Given the description of an element on the screen output the (x, y) to click on. 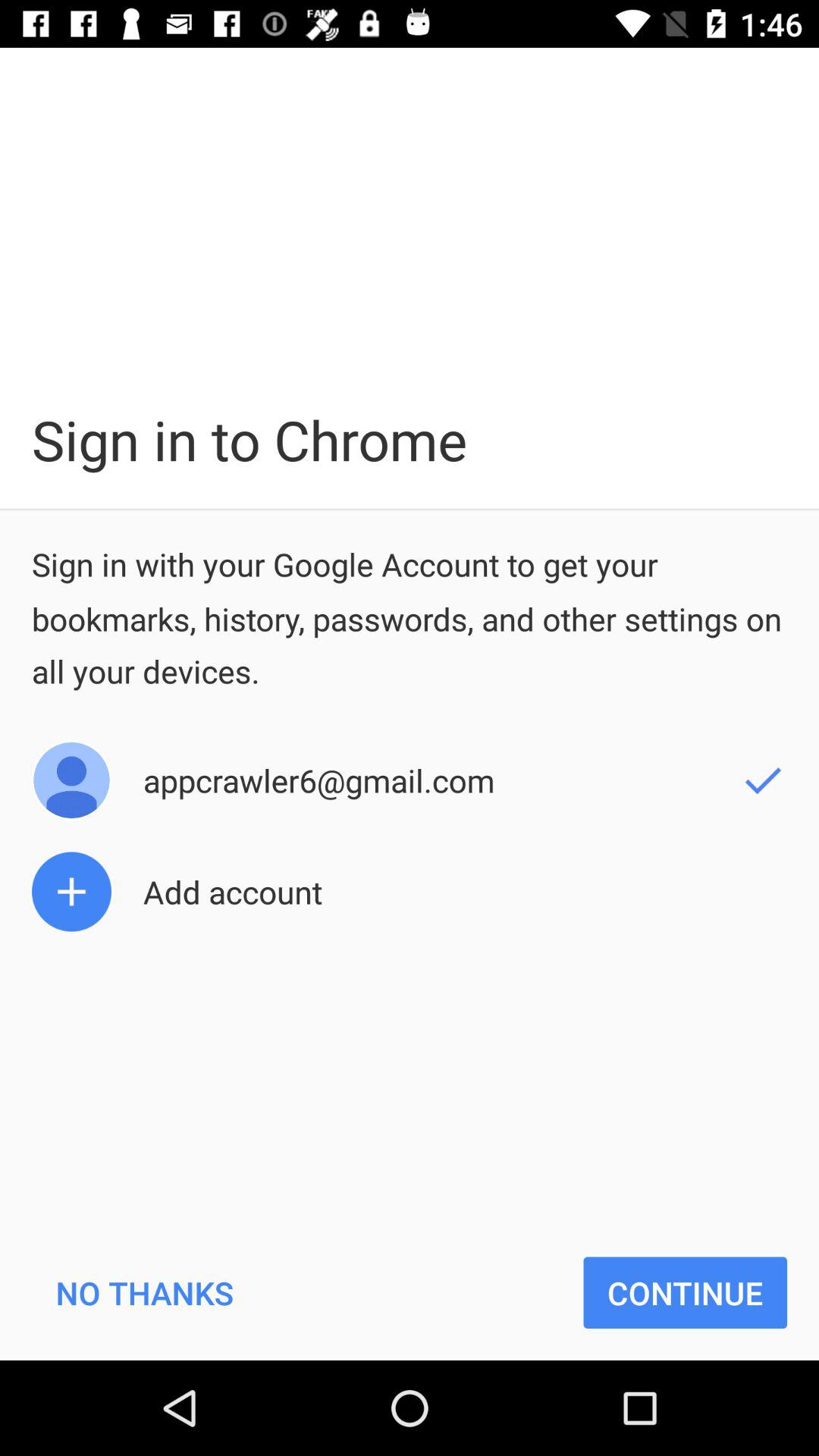
scroll to the no thanks (144, 1292)
